Given the description of an element on the screen output the (x, y) to click on. 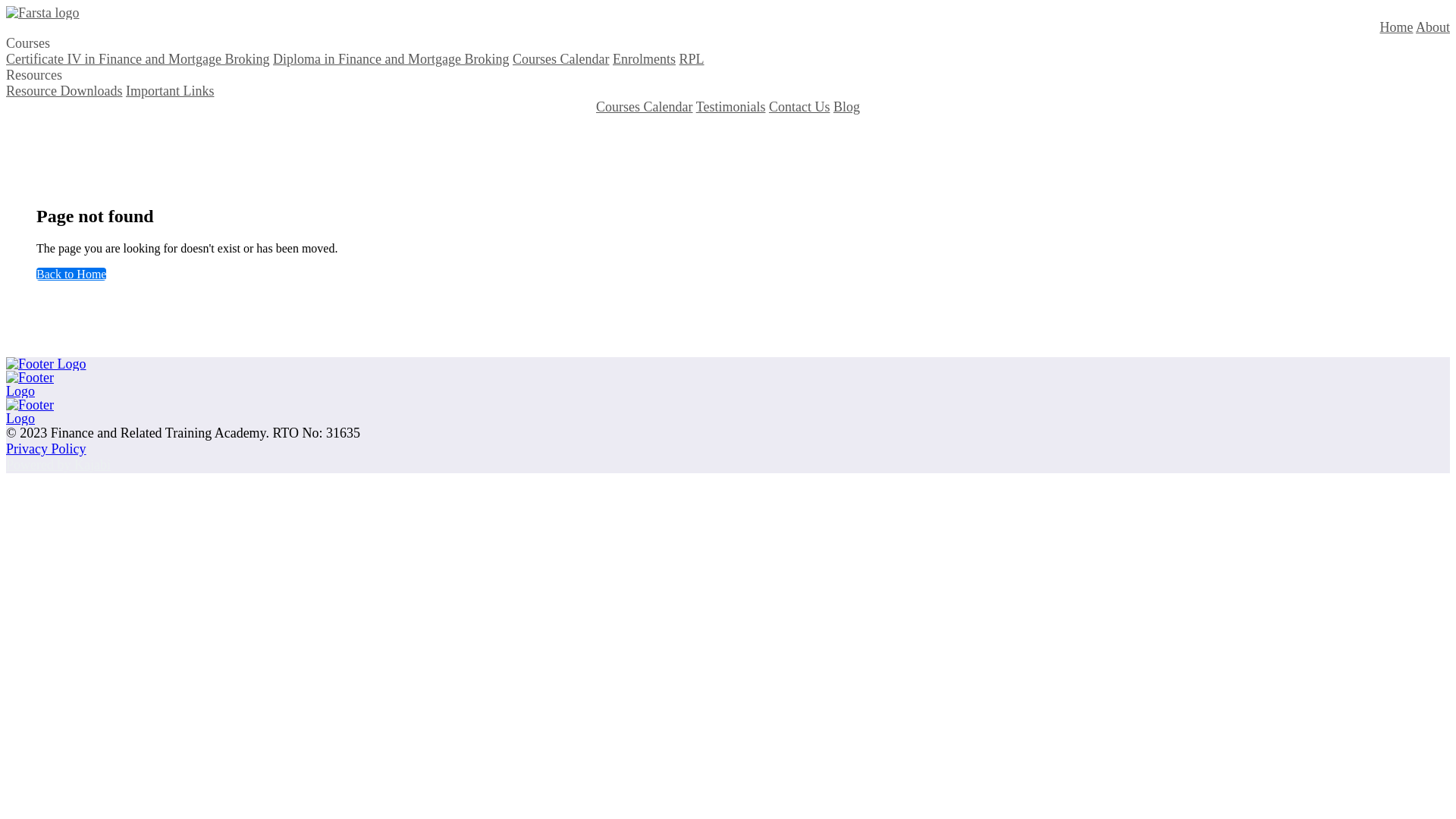
Privacy Policy Element type: text (46, 448)
Courses Calendar Element type: text (644, 106)
Courses Element type: text (28, 42)
Important Links Element type: text (169, 90)
Diploma in Finance and Mortgage Broking Element type: text (390, 58)
Testimonials Element type: text (730, 106)
Certificate IV in Finance and Mortgage Broking Element type: text (137, 58)
Courses Calendar Element type: text (560, 58)
Powered by Kajabi Element type: text (58, 464)
Blog Element type: text (846, 106)
Back to Home Element type: text (71, 273)
Resource Downloads Element type: text (64, 90)
Resources Element type: text (34, 74)
Contact Us Element type: text (799, 106)
RPL Element type: text (691, 58)
About Element type: text (1432, 26)
Home Element type: text (1395, 26)
Enrolments Element type: text (643, 58)
